Given the description of an element on the screen output the (x, y) to click on. 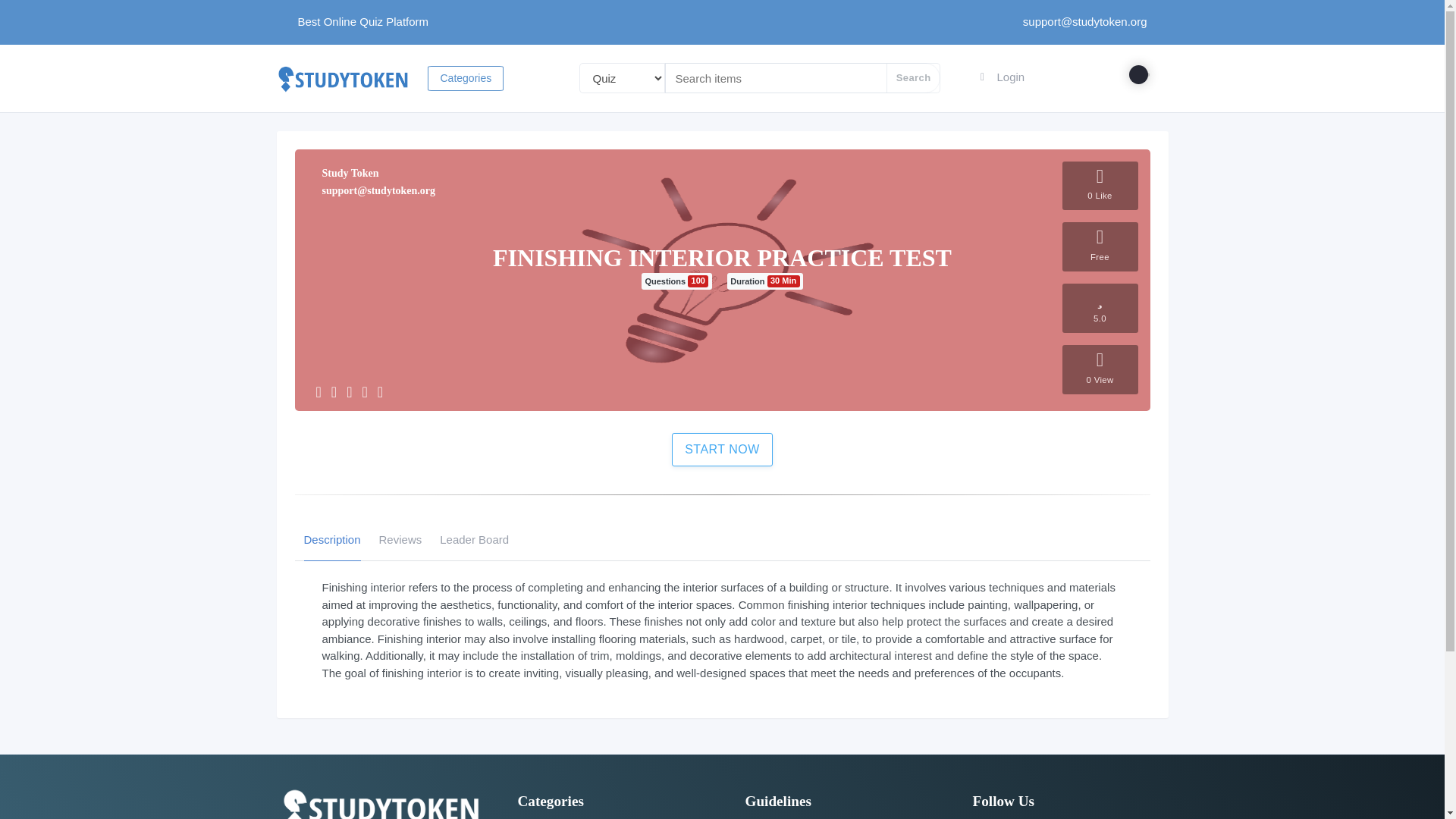
START NOW (722, 449)
Leader Board (473, 539)
Disclaimer (767, 818)
Search (913, 78)
Login (1000, 77)
Description (330, 539)
Reviews (400, 539)
Categories (465, 77)
